Given the description of an element on the screen output the (x, y) to click on. 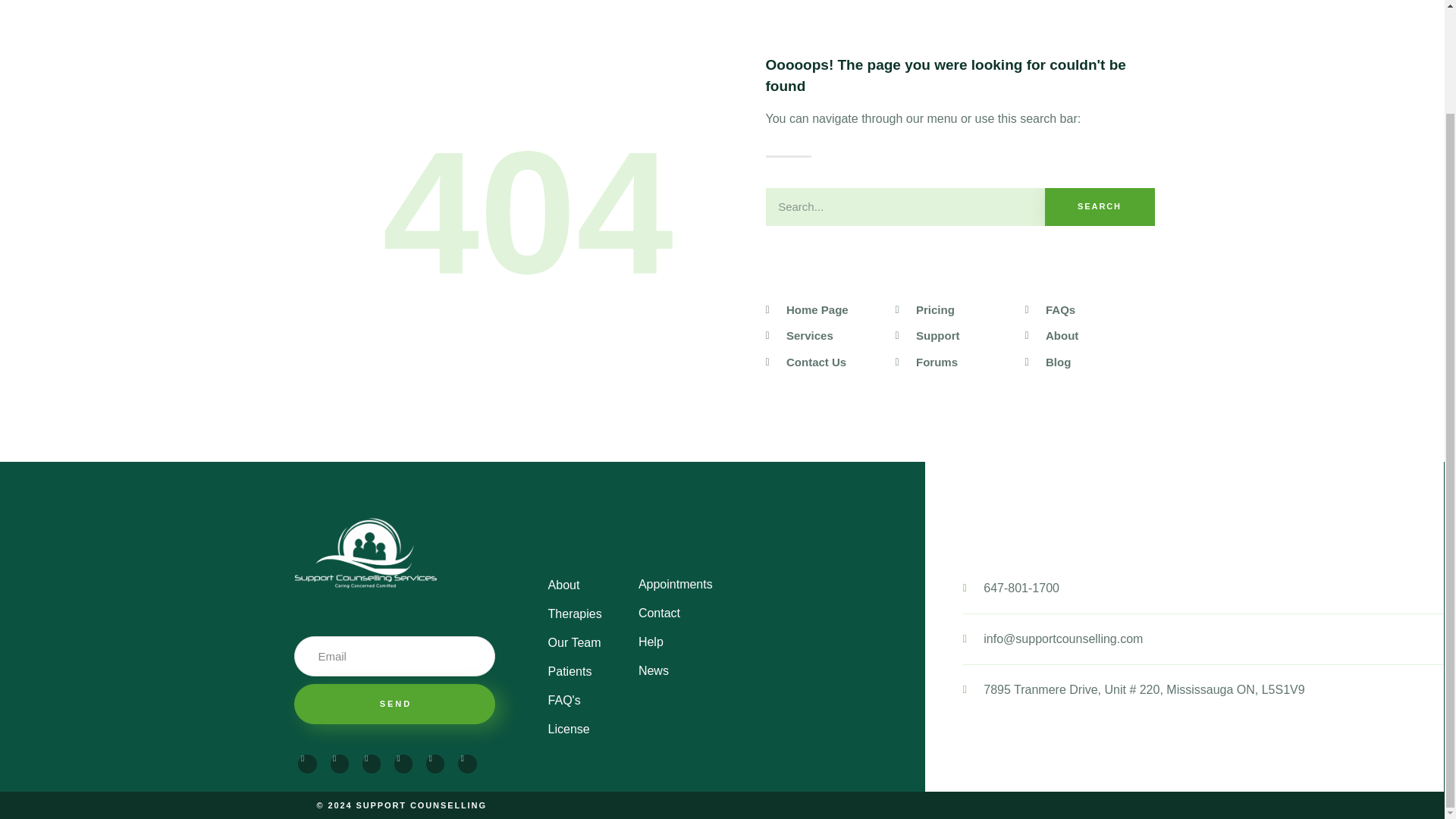
Search (1099, 207)
SEND (394, 703)
Search (905, 207)
SEARCH (1099, 207)
